Given the description of an element on the screen output the (x, y) to click on. 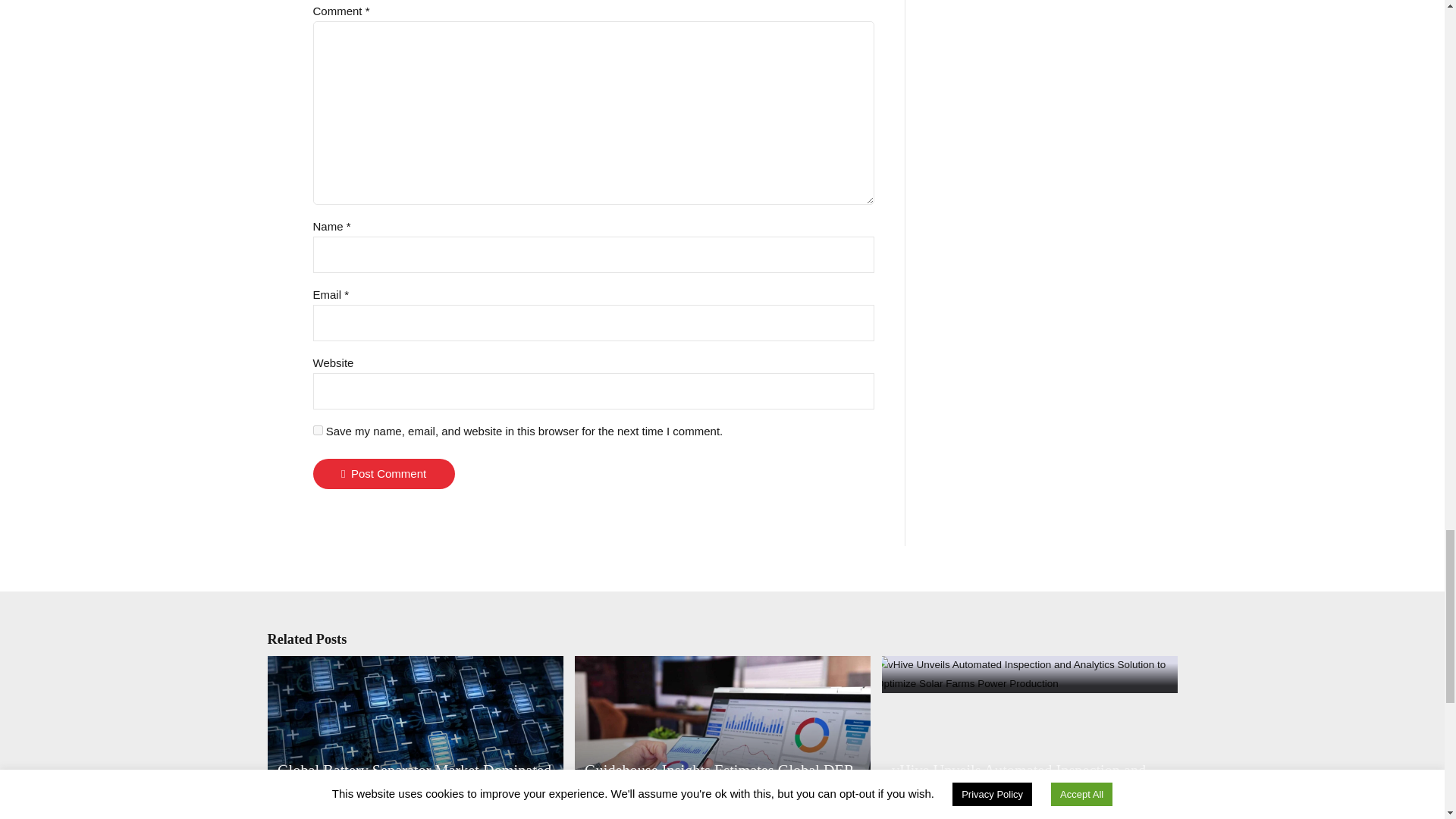
Post Comment (383, 473)
yes (317, 429)
